Given the description of an element on the screen output the (x, y) to click on. 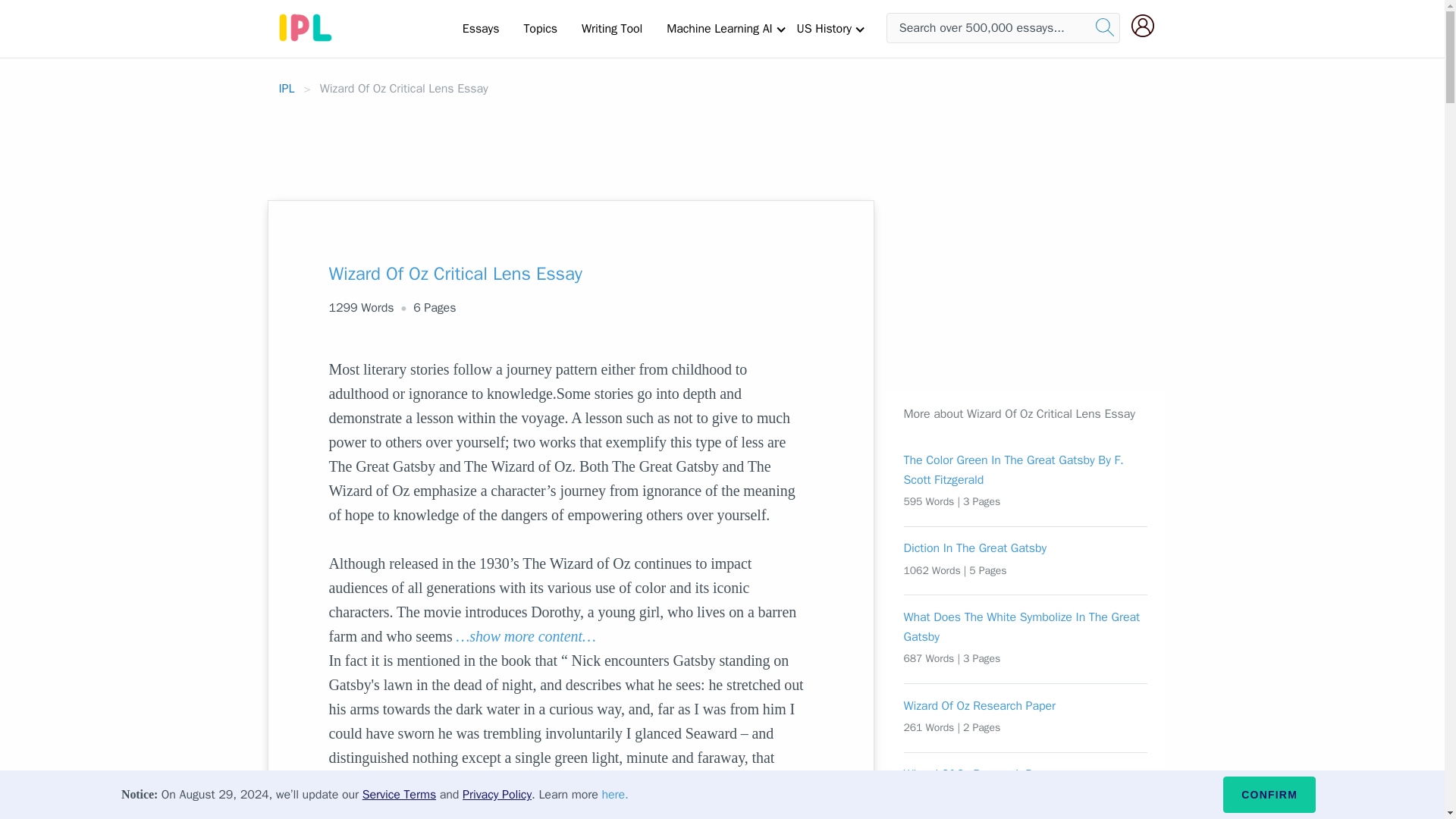
IPL (287, 88)
Machine Learning AI (718, 28)
Essays (480, 28)
Topics (540, 28)
US History (823, 28)
Writing Tool (611, 28)
